Given the description of an element on the screen output the (x, y) to click on. 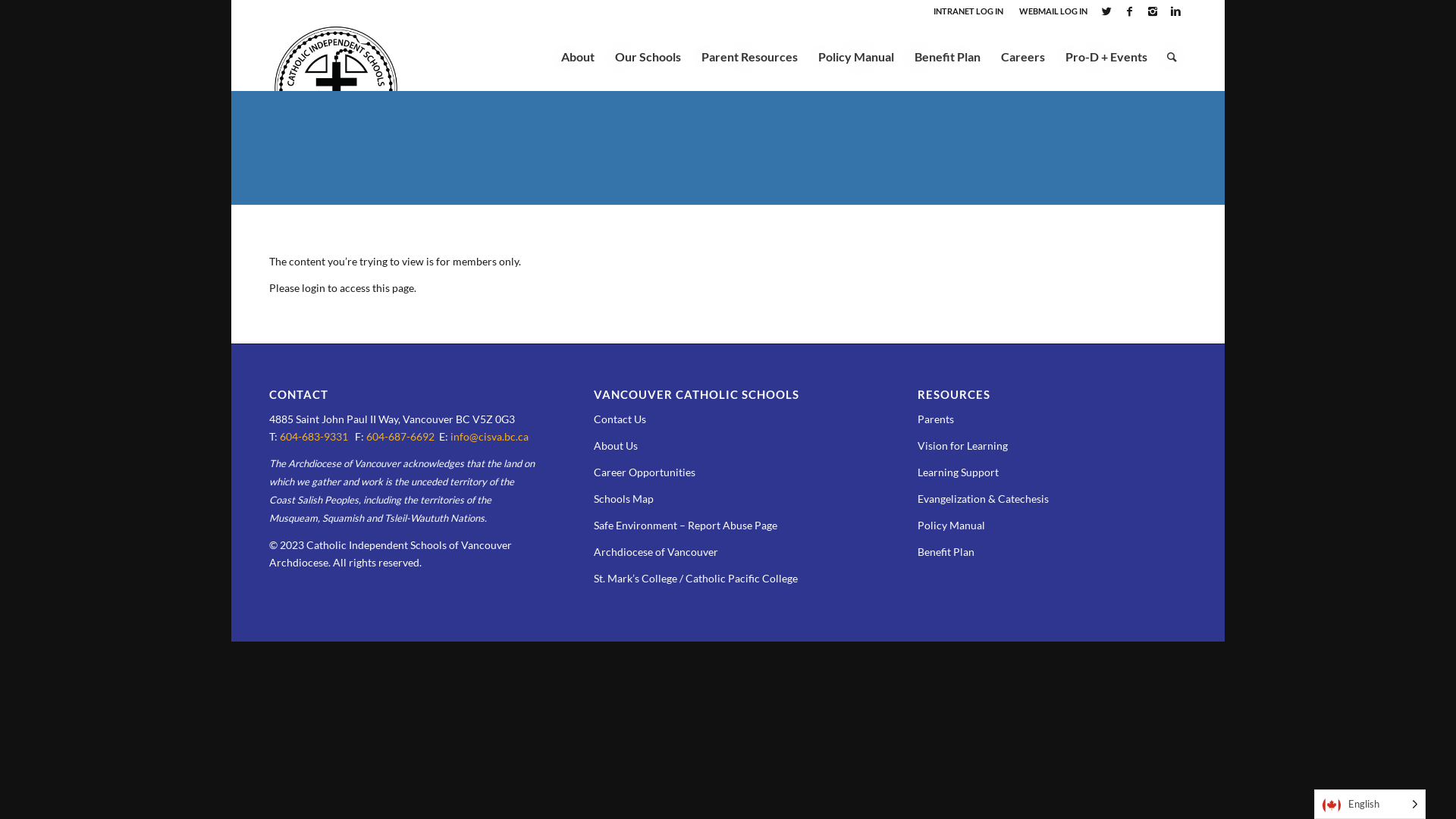
Home Element type: text (282, 91)
About Us Element type: text (615, 445)
Vision for Learning Element type: text (962, 445)
Linkedin Element type: hover (1175, 11)
Career Opportunities Element type: text (644, 471)
Benefit Plan Element type: text (946, 56)
login Element type: text (313, 287)
About Element type: text (577, 56)
Policy Manual Element type: text (951, 524)
info@cisva.bc.ca Element type: text (489, 435)
Twitter Element type: hover (1106, 11)
Parent Resources Element type: text (748, 56)
Archdiocese of Vancouver Element type: text (655, 551)
Pro-D + Events Element type: text (1105, 56)
Benefit Plan Element type: text (945, 551)
Our Schools Element type: text (647, 56)
Careers Element type: text (1022, 56)
Policy Manual Element type: text (855, 56)
Instagram Element type: hover (1152, 11)
Parents Element type: text (935, 418)
Contact Us Element type: text (619, 418)
Evangelization & Catechesis Element type: text (982, 498)
WEBMAIL LOG IN Element type: text (1053, 10)
Schools Map Element type: text (623, 498)
Catholic Pacific College Element type: text (741, 577)
Facebook Element type: hover (1129, 11)
INTRANET LOG IN Element type: text (968, 10)
Learning Support Element type: text (957, 471)
